Given the description of an element on the screen output the (x, y) to click on. 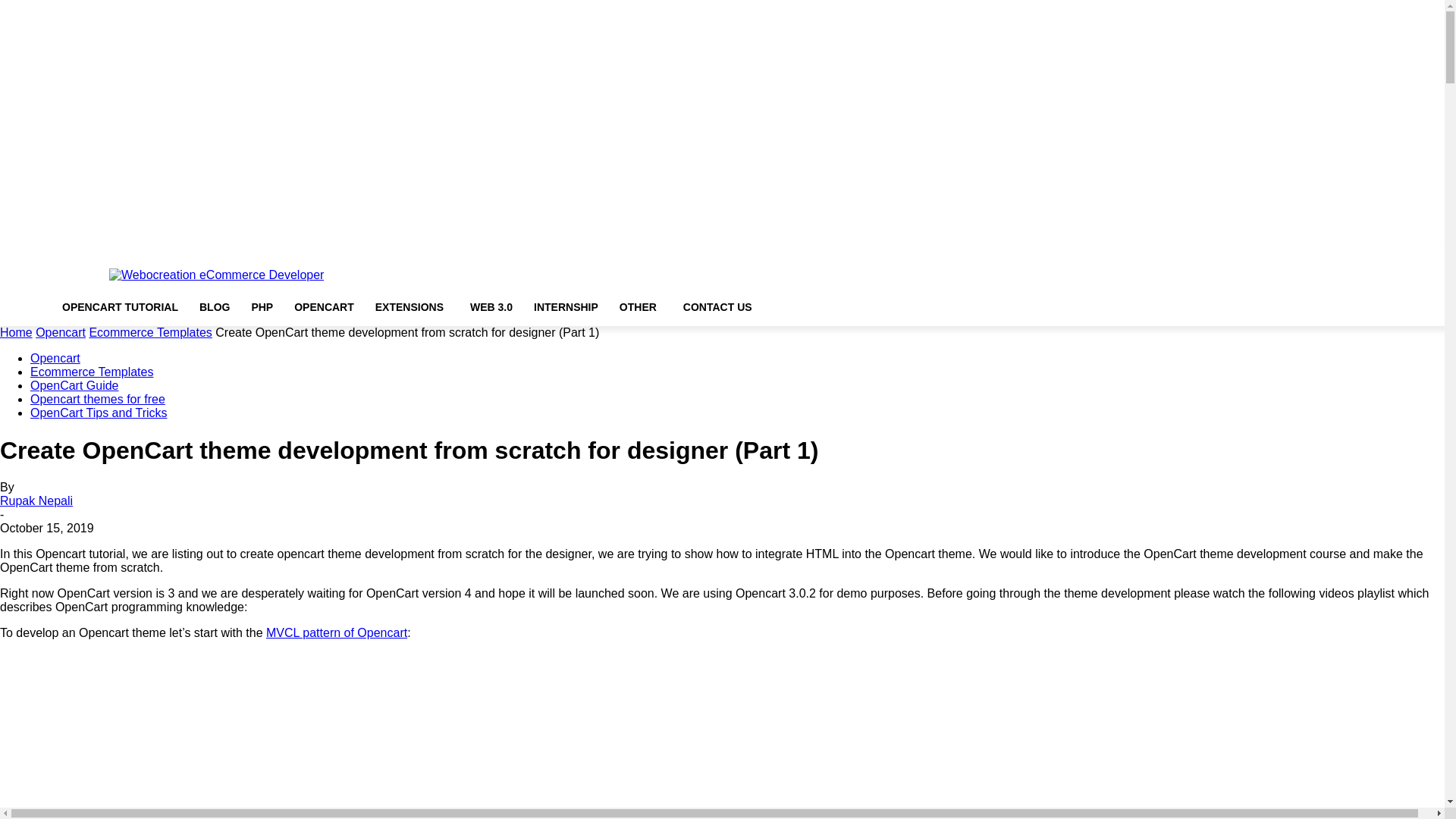
WEB 3.0 (491, 307)
OPENCART TUTORIAL (119, 307)
Ecommerce Templates (149, 332)
INTERNSHIP (565, 307)
Home (16, 332)
BLOG (214, 307)
OTHER (640, 307)
Opencart (55, 358)
Opencart (59, 332)
OPENCART (324, 307)
